Given the description of an element on the screen output the (x, y) to click on. 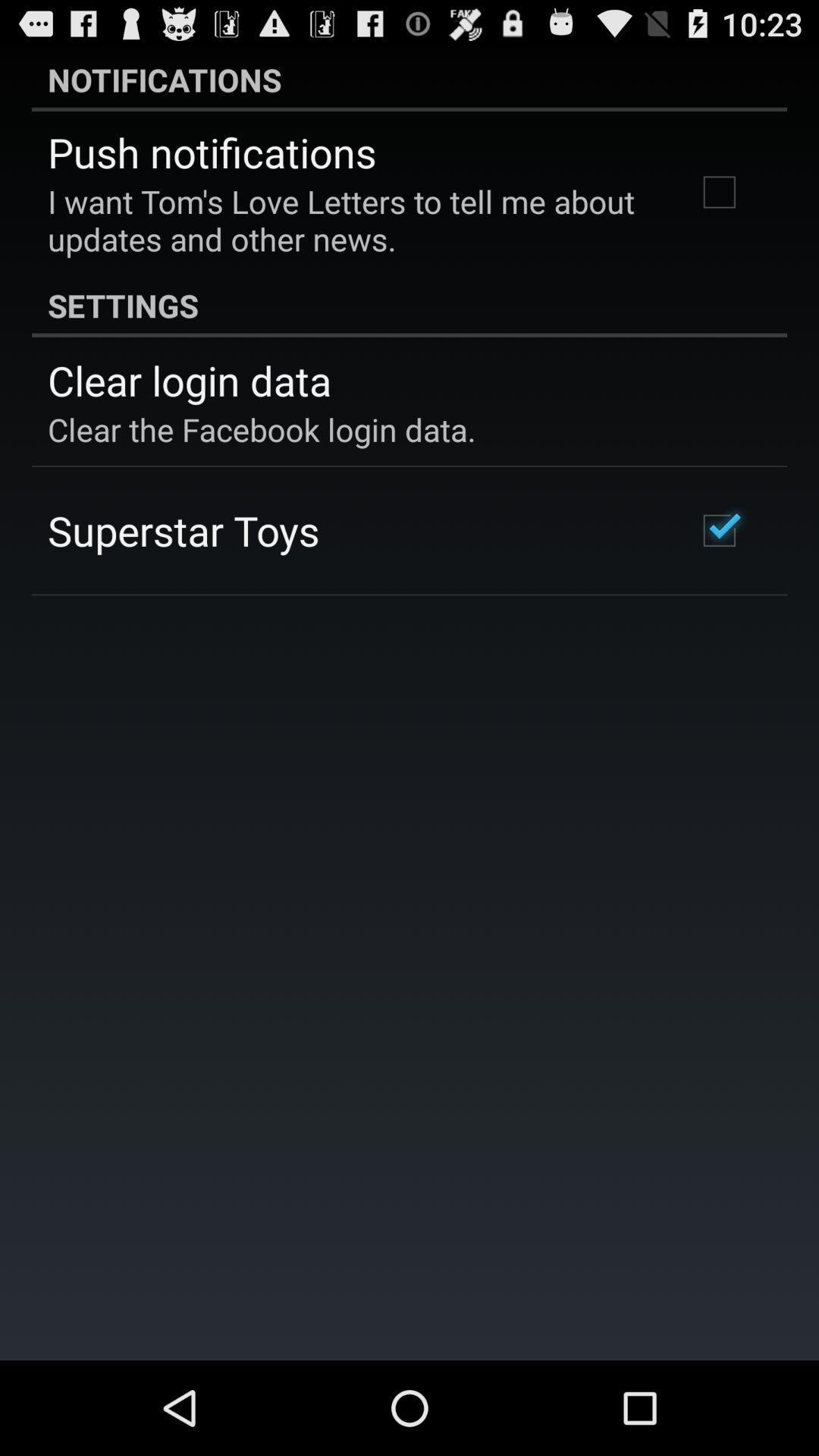
swipe until the superstar toys icon (183, 529)
